Given the description of an element on the screen output the (x, y) to click on. 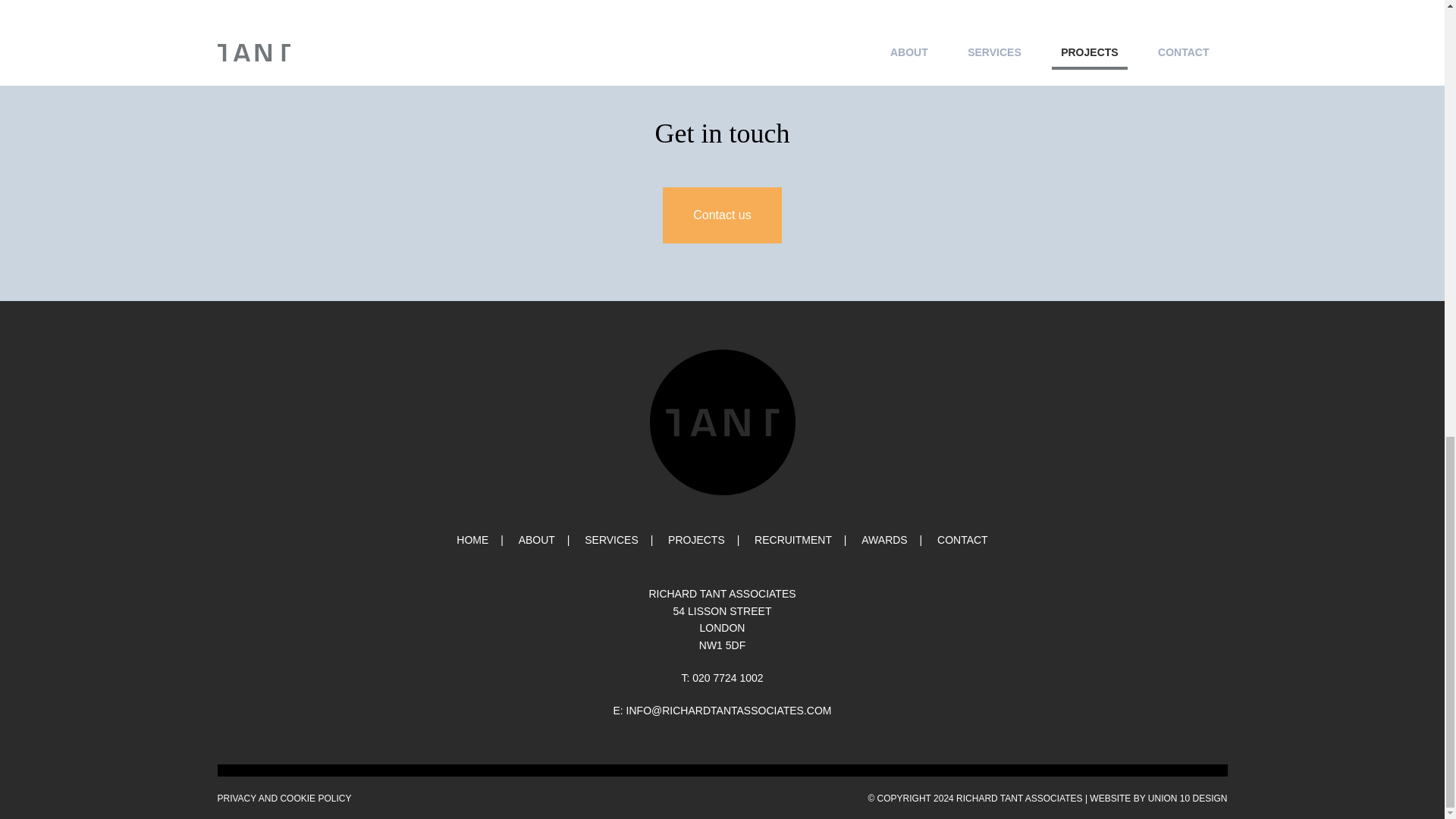
ABOUT (536, 539)
HOME (472, 539)
AWARDS (884, 539)
SERVICES (612, 539)
UNION 10 DESIGN (1187, 798)
PROJECTS (722, 619)
CONTACT (696, 539)
RECRUITMENT (962, 539)
020 7724 1002 (792, 539)
